Given the description of an element on the screen output the (x, y) to click on. 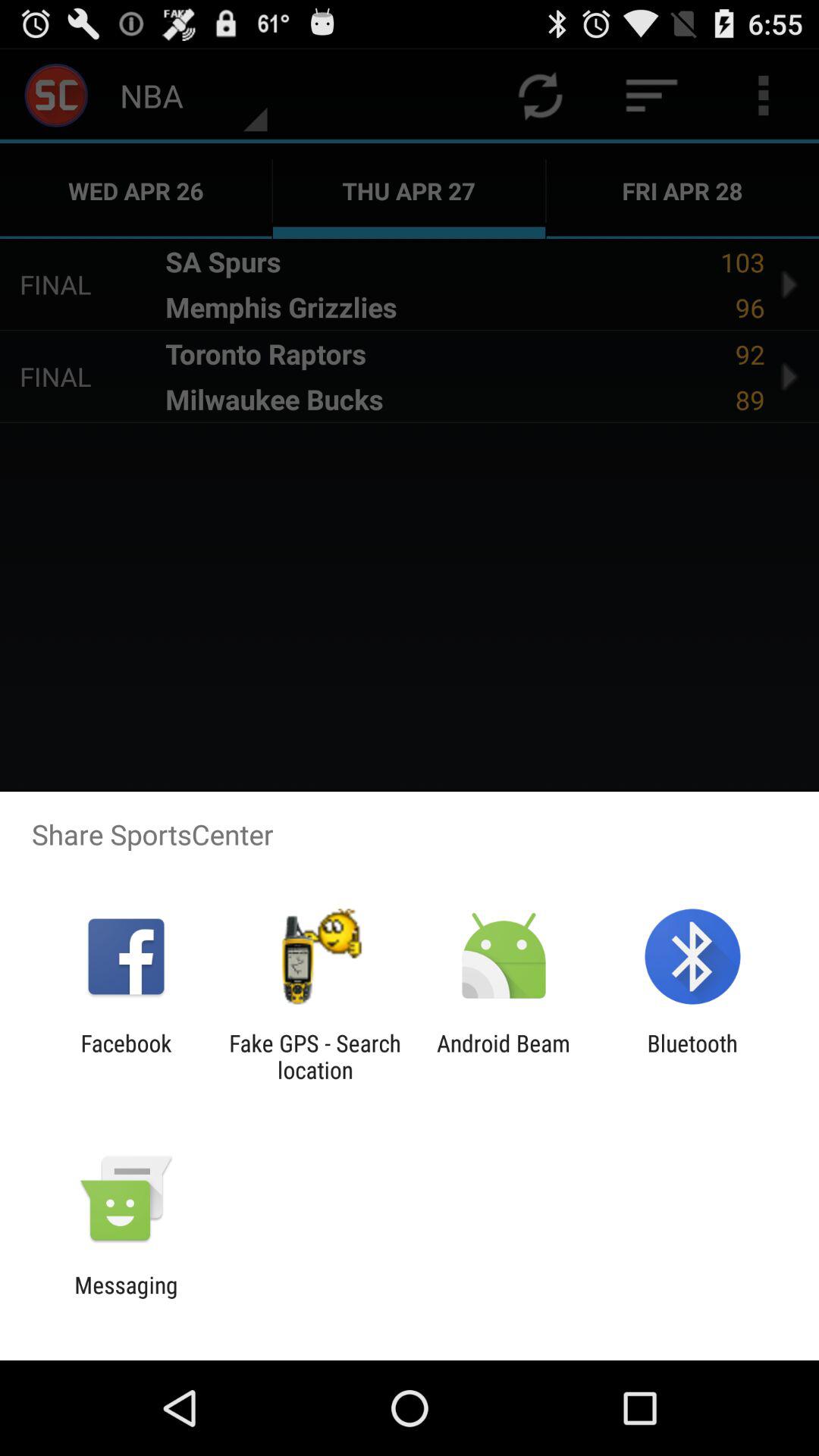
launch the app next to the bluetooth icon (503, 1056)
